Given the description of an element on the screen output the (x, y) to click on. 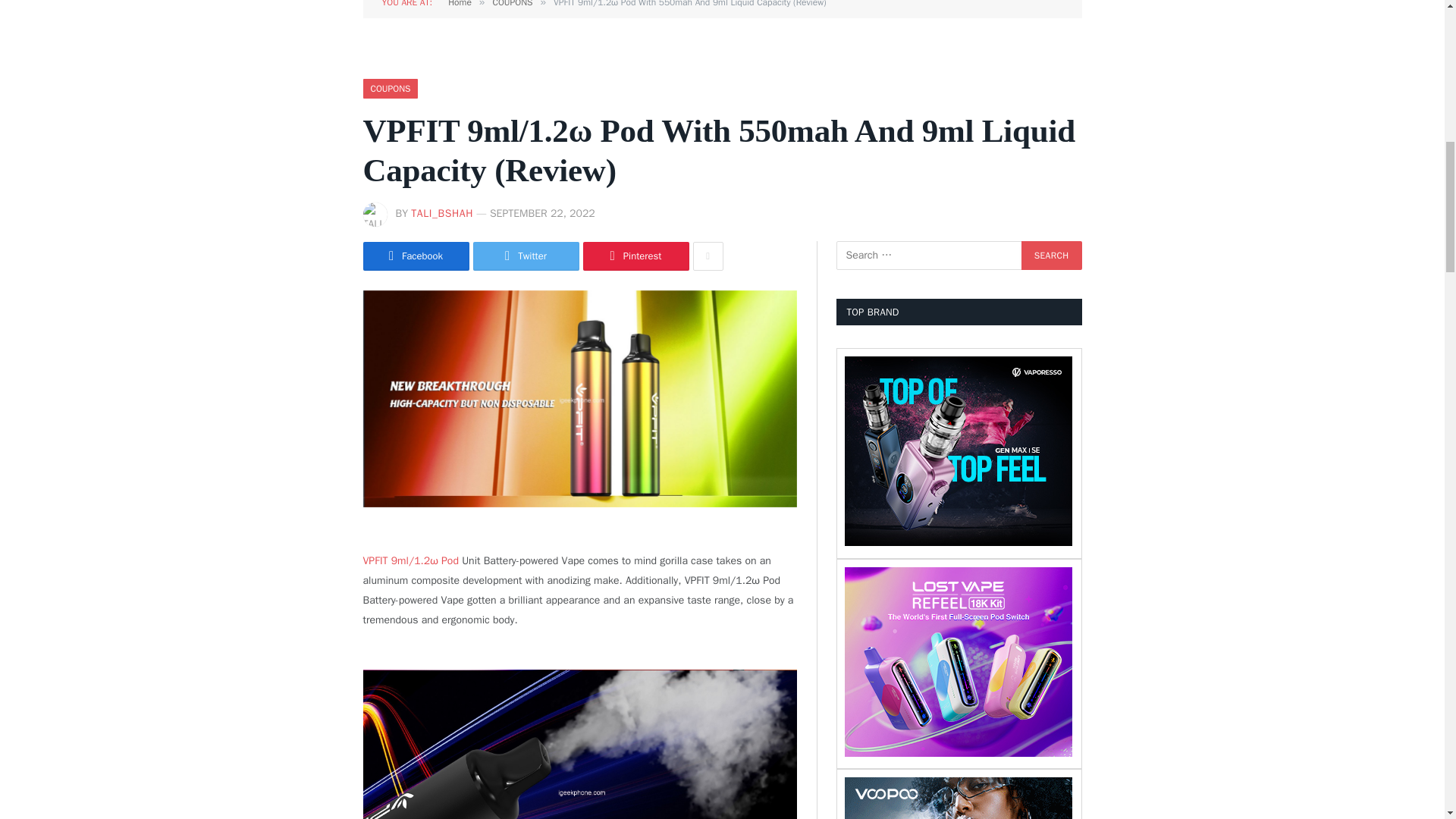
Search (1051, 255)
Share on Pinterest (635, 256)
Search (1051, 255)
Share on Facebook (415, 256)
Share on Twitter (526, 256)
Show More Social Sharing (708, 256)
